Given the description of an element on the screen output the (x, y) to click on. 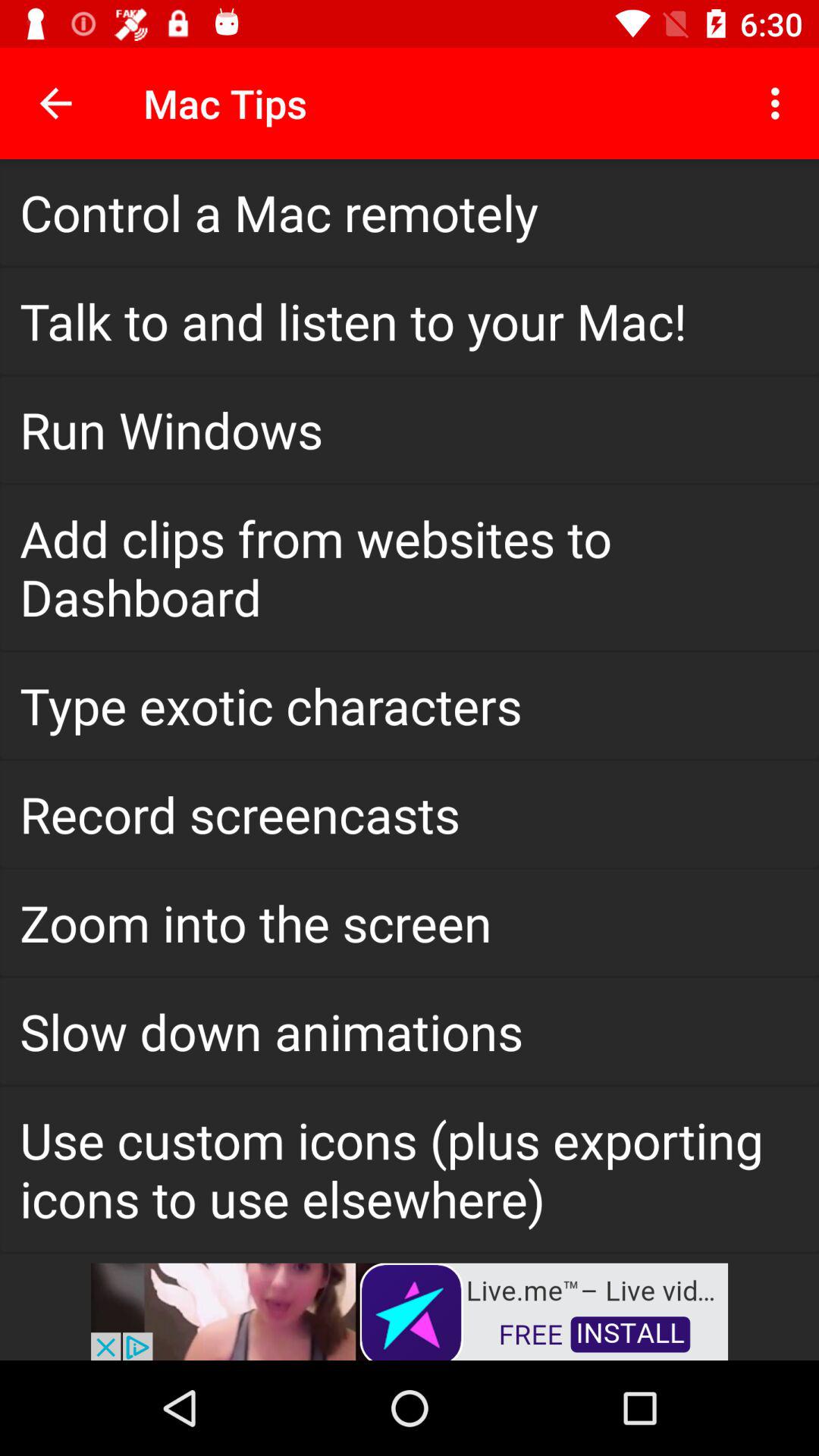
open advertisement (409, 1310)
